Given the description of an element on the screen output the (x, y) to click on. 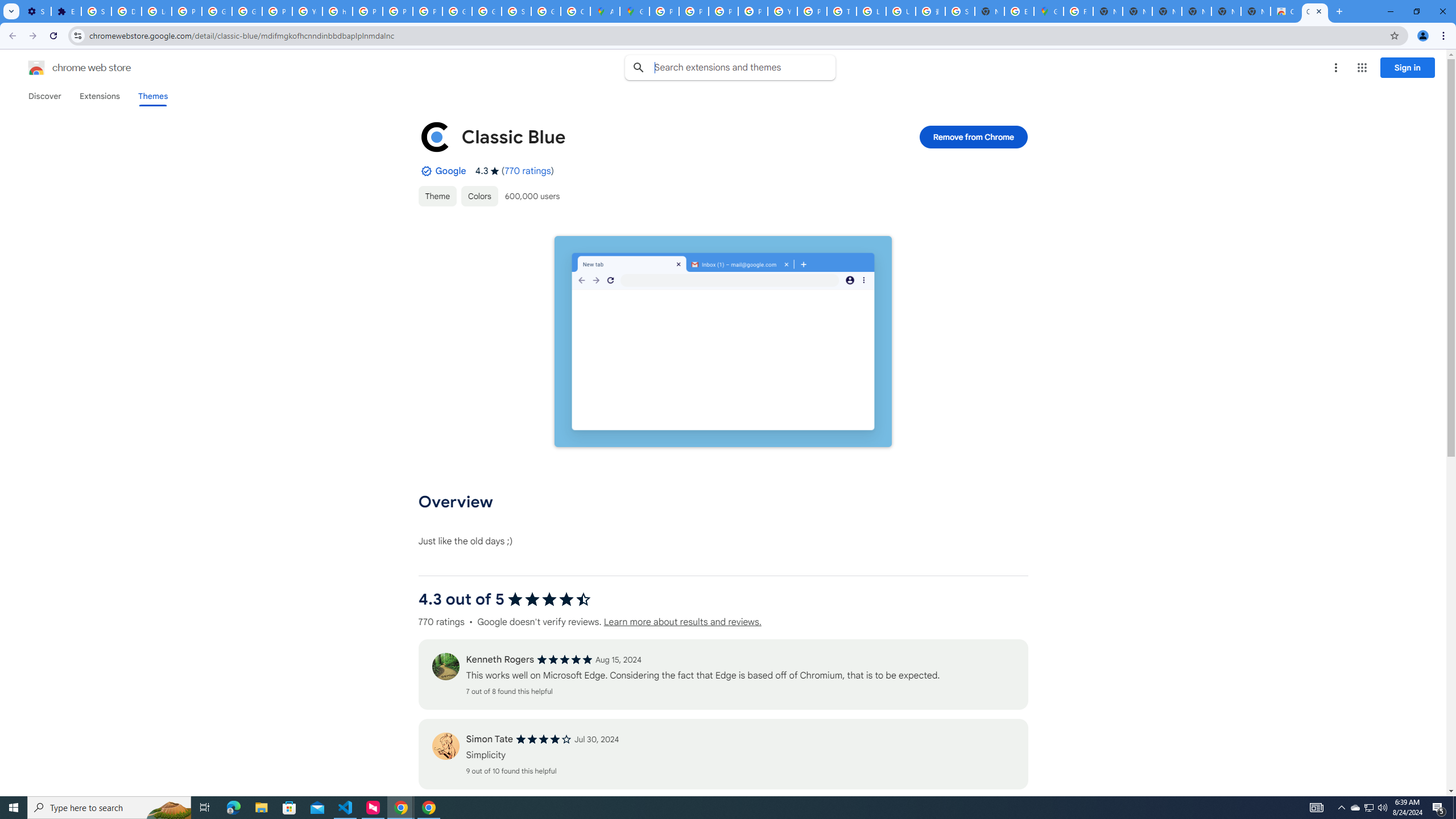
5 out of 5 stars (563, 659)
Review's profile picture (445, 746)
Classic Blue - Chrome Web Store (1284, 11)
Search input (744, 67)
Classic Blue - Chrome Web Store (1314, 11)
Google Account Help (216, 11)
Policy Accountability and Transparency - Transparency Center (664, 11)
Sign in - Google Accounts (515, 11)
Delete photos & videos - Computer - Google Photos Help (126, 11)
https://scholar.google.com/ (337, 11)
